Given the description of an element on the screen output the (x, y) to click on. 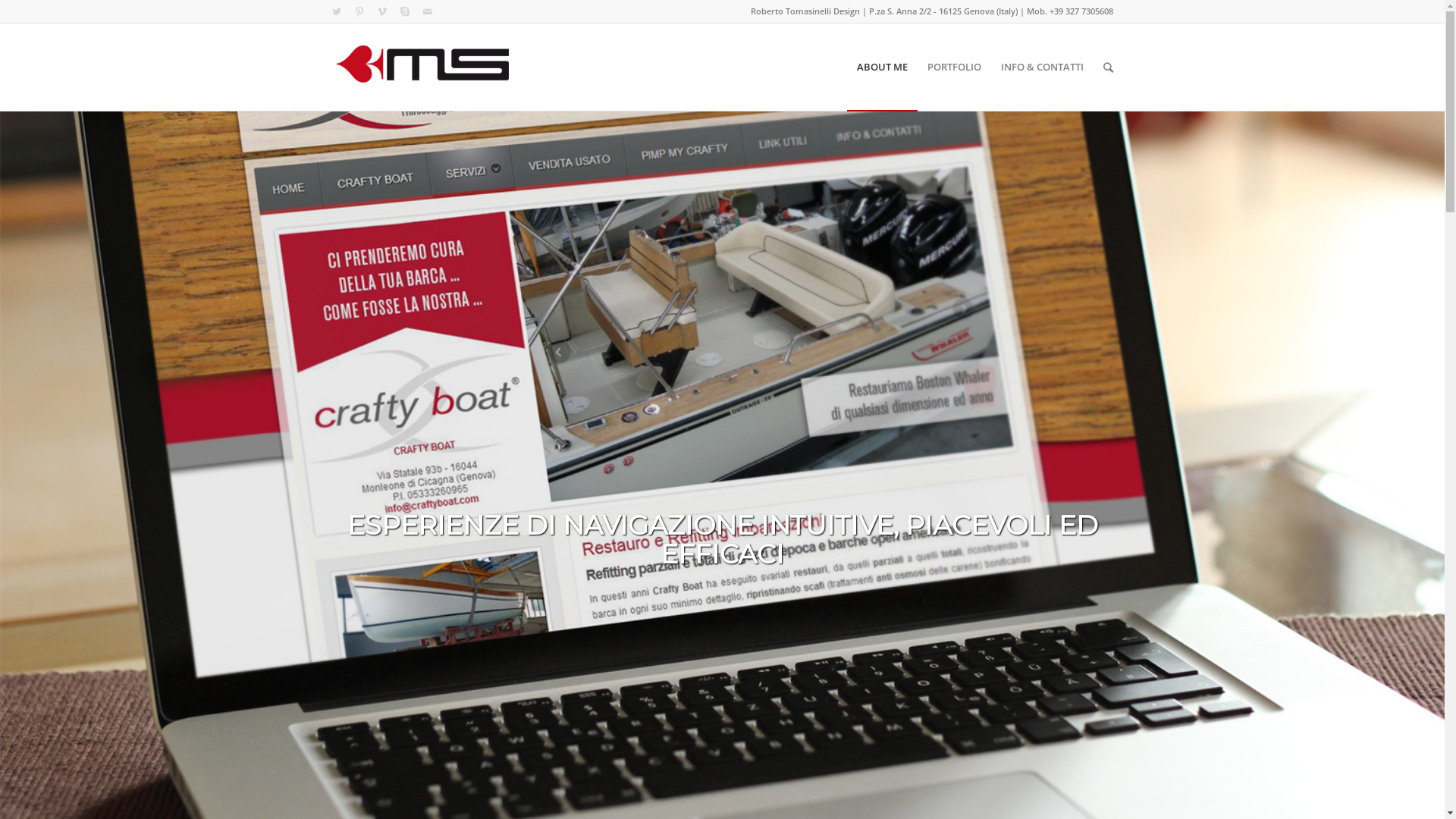
Twitter Element type: hover (335, 11)
ABOUT ME Element type: text (881, 66)
Vimeo Element type: hover (381, 11)
INFO & CONTATTI Element type: text (1041, 66)
Mail Element type: hover (426, 11)
Skype Element type: hover (403, 11)
Pinterest Element type: hover (358, 11)
PORTFOLIO Element type: text (954, 66)
